Given the description of an element on the screen output the (x, y) to click on. 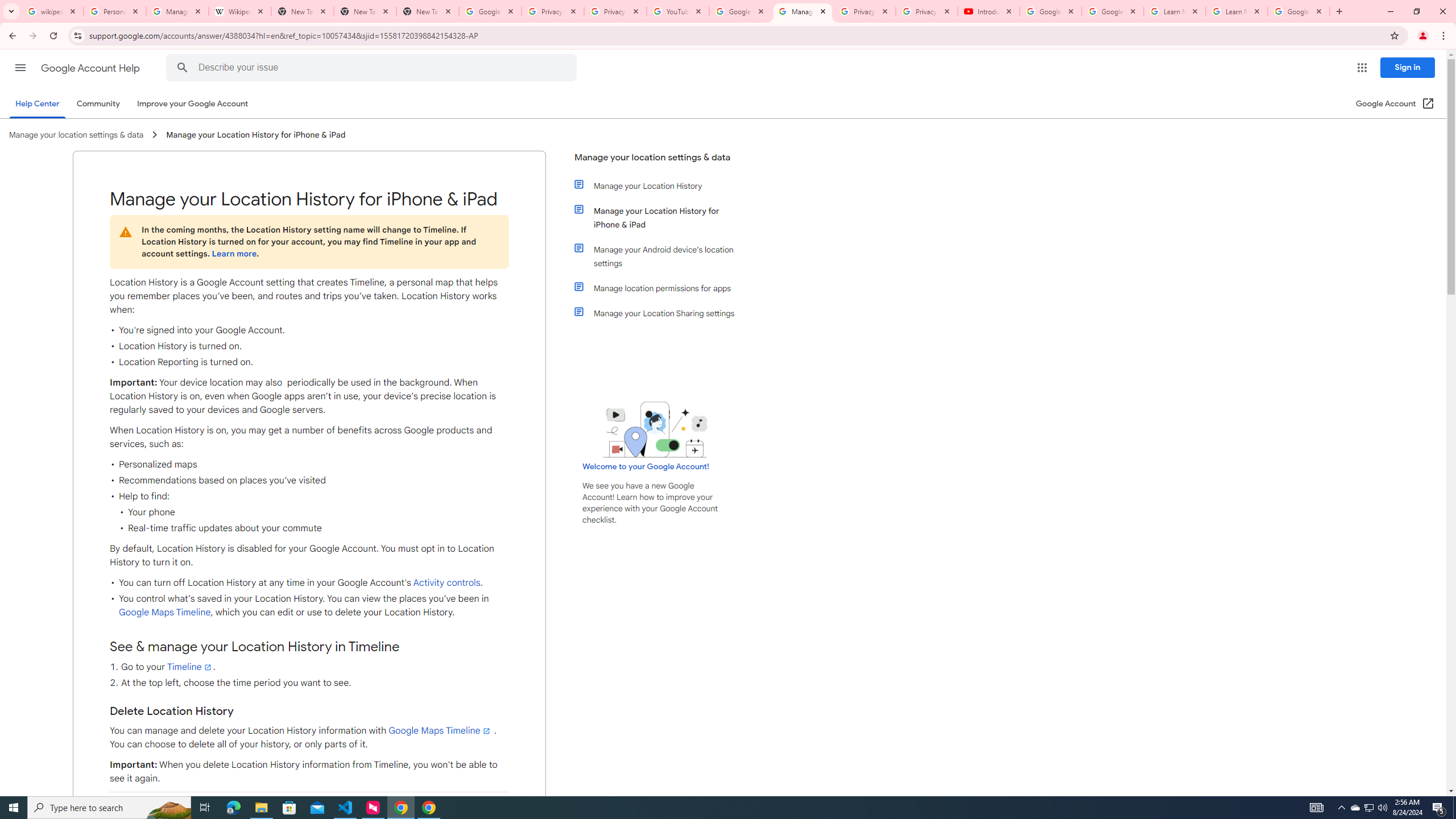
New Tab (365, 11)
Introduction | Google Privacy Policy - YouTube (988, 11)
Describe your issue (373, 67)
Google Account Help (1111, 11)
Google Drive: Sign-in (490, 11)
Search Help Center (181, 67)
Google Account (Open in a new window) (1395, 103)
Welcome to your Google Account! (645, 466)
